Given the description of an element on the screen output the (x, y) to click on. 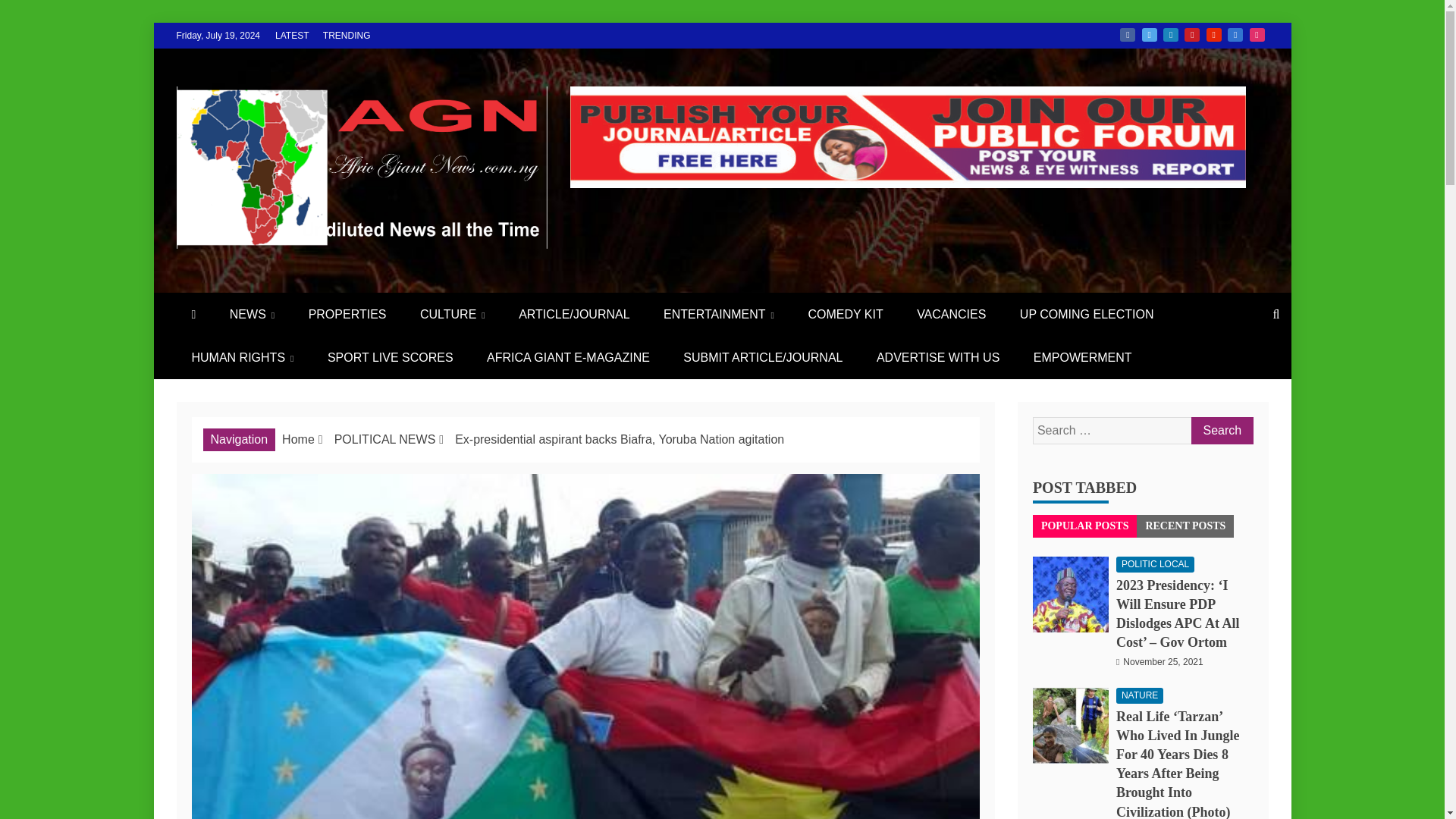
Facebook (1127, 34)
Twitter (1149, 34)
Linkedin (1170, 34)
Youtube (1214, 34)
Search (1221, 430)
PROPERTIES (347, 313)
LATEST (291, 35)
UP COMING ELECTION (1086, 313)
Instagram (1257, 34)
Search (1221, 430)
CULTURE (452, 313)
NEWS (251, 313)
TRENDING (347, 35)
COMEDY KIT (845, 313)
VACANCIES (951, 313)
